Given the description of an element on the screen output the (x, y) to click on. 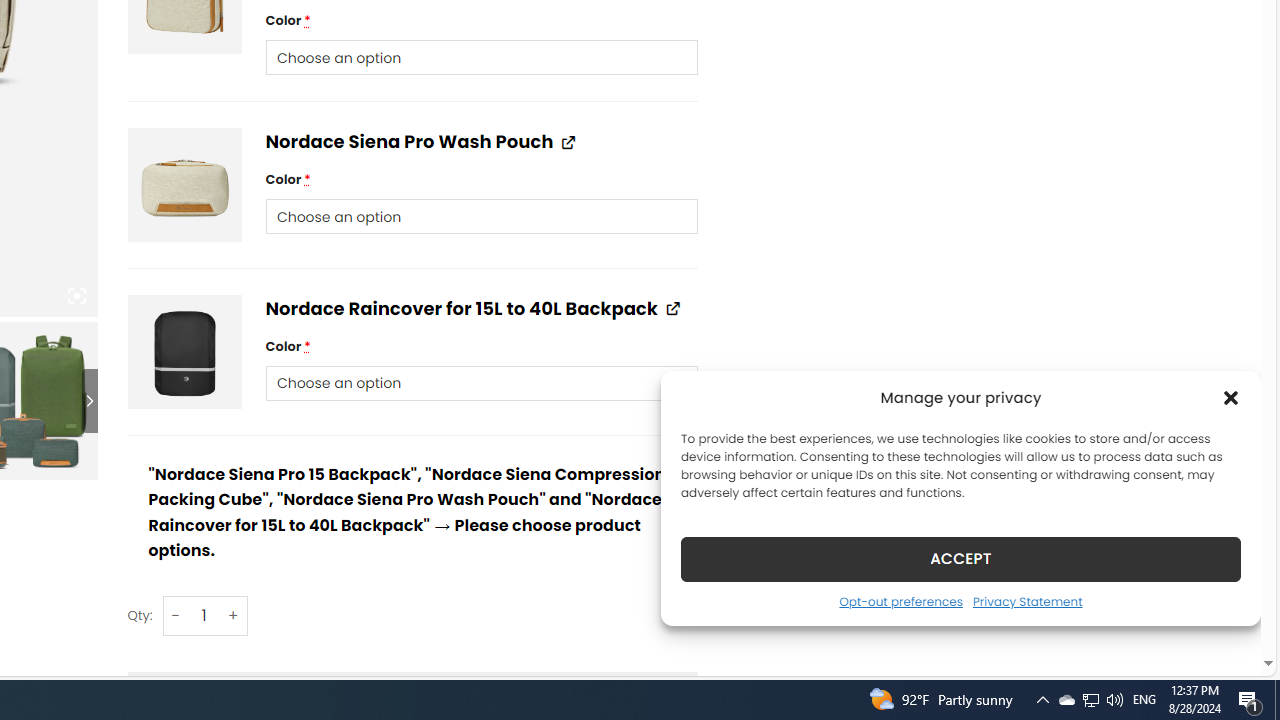
6G8A1459 (183, 185)
View product (672, 308)
Opt-out preferences (900, 601)
Siena Pro 15 Essential Set quantity (204, 615)
ML25400-1(1) (183, 350)
ACCEPT (960, 558)
Privacy Statement (1026, 601)
6G8A1459 (183, 185)
- (175, 615)
ML25400-1(1) (183, 350)
+ (234, 615)
Class: iconic-woothumbs-fullscreen (75, 296)
Color * (480, 383)
